Given the description of an element on the screen output the (x, y) to click on. 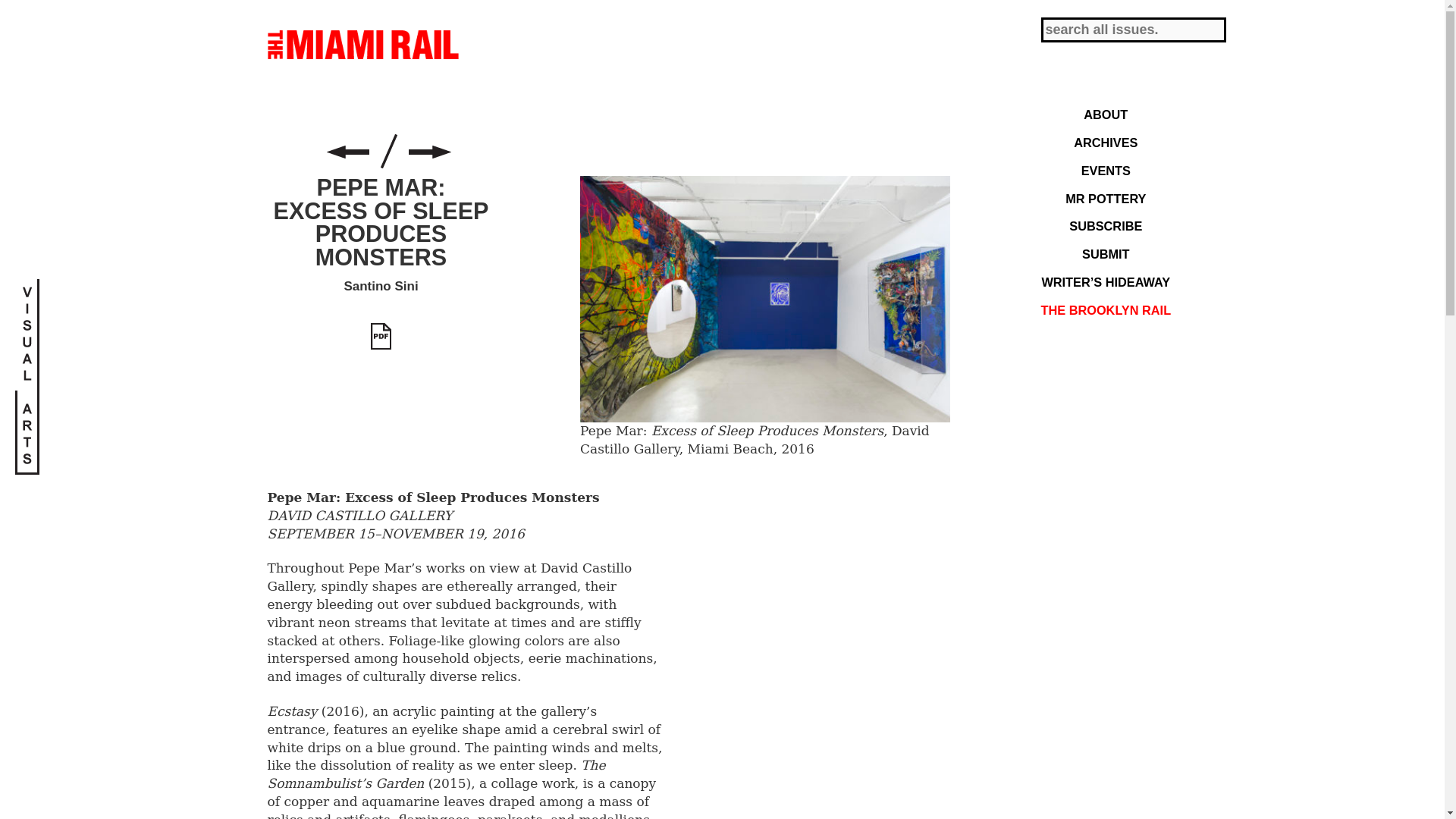
Feeling Red and Blue (428, 151)
Feeling Red and Blue (428, 151)
ABOUT (1105, 114)
Robert Winthrop Chanler: Discovering the Fantastic (347, 151)
THE BROOKLYN RAIL (1105, 310)
EVENTS (1105, 170)
Robert Winthrop Chanler: Discovering the Fantastic (347, 151)
SUBMIT (1105, 253)
SUBSCRIBE (1105, 226)
MR POTTERY (1105, 199)
ARCHIVES (1105, 142)
Submit (27, 11)
